Given the description of an element on the screen output the (x, y) to click on. 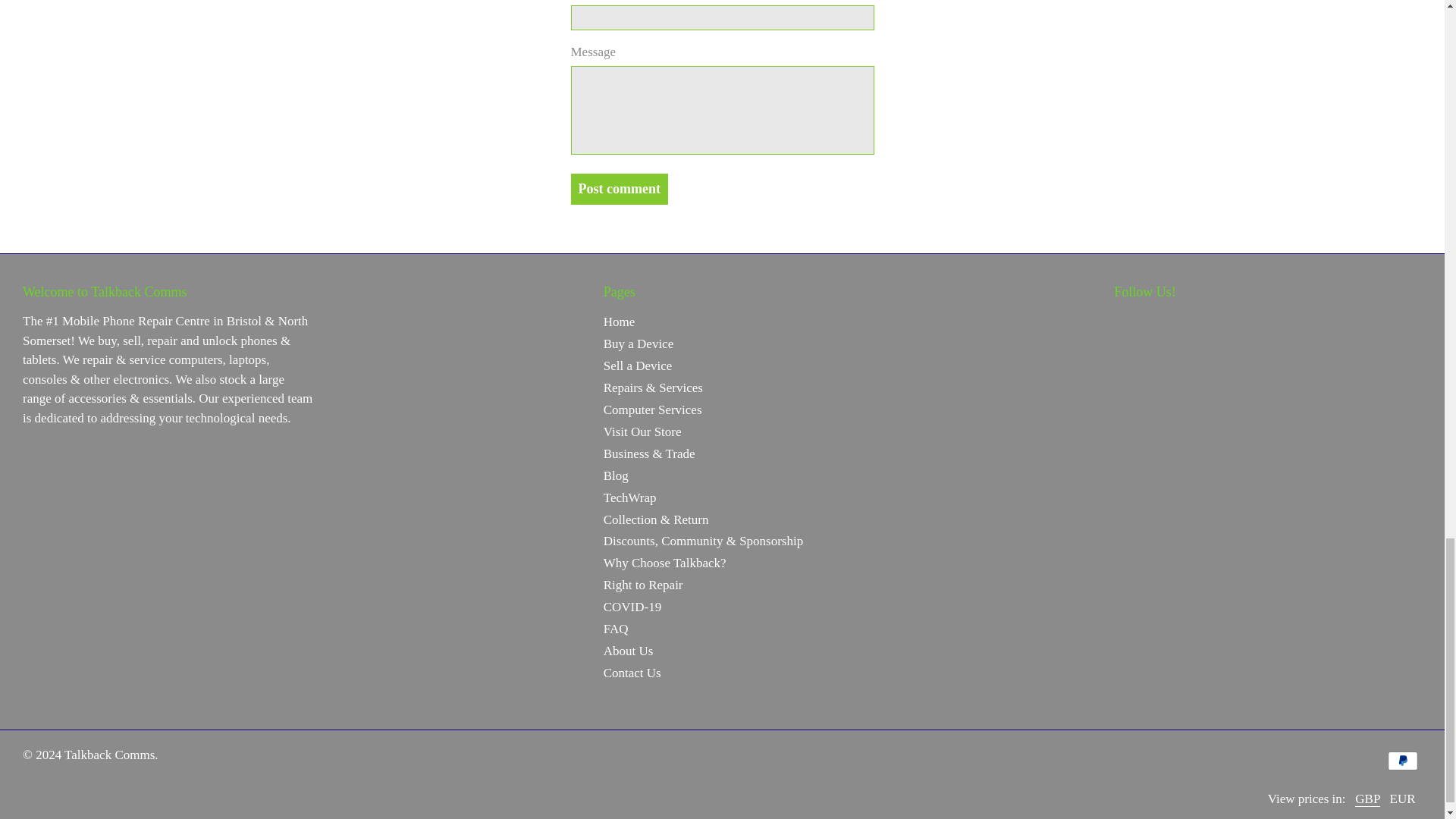
Blog (616, 475)
Buy a Device (639, 343)
Sell a Device (638, 365)
Visit Our Store (642, 431)
Computer Services (652, 409)
Home (619, 321)
Post comment (618, 188)
TechWrap (630, 497)
Post comment (618, 188)
